Given the description of an element on the screen output the (x, y) to click on. 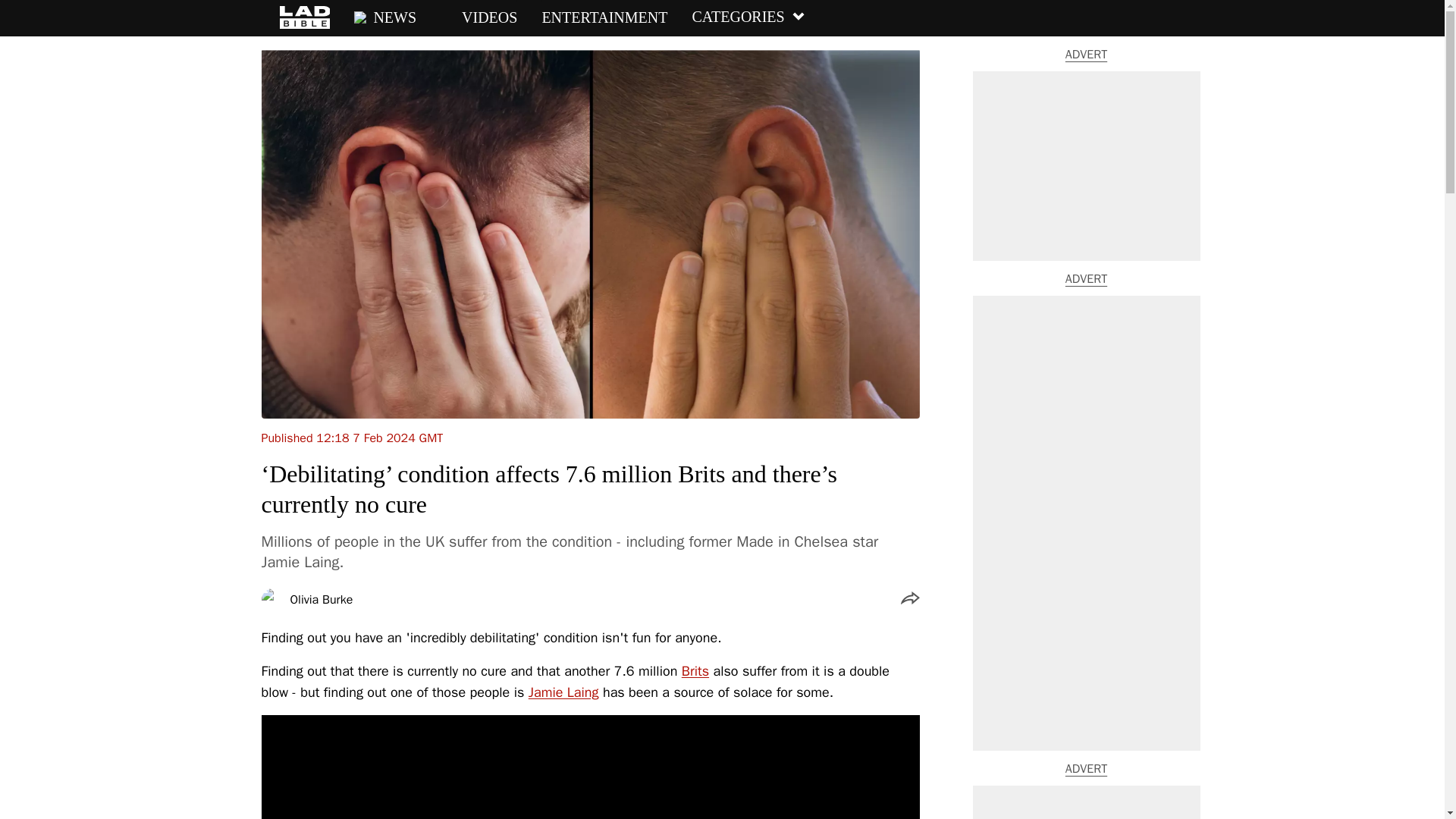
NEWS (384, 17)
ENTERTAINMENT (603, 17)
CATEGORIES (748, 17)
VIDEOS (478, 17)
